Given the description of an element on the screen output the (x, y) to click on. 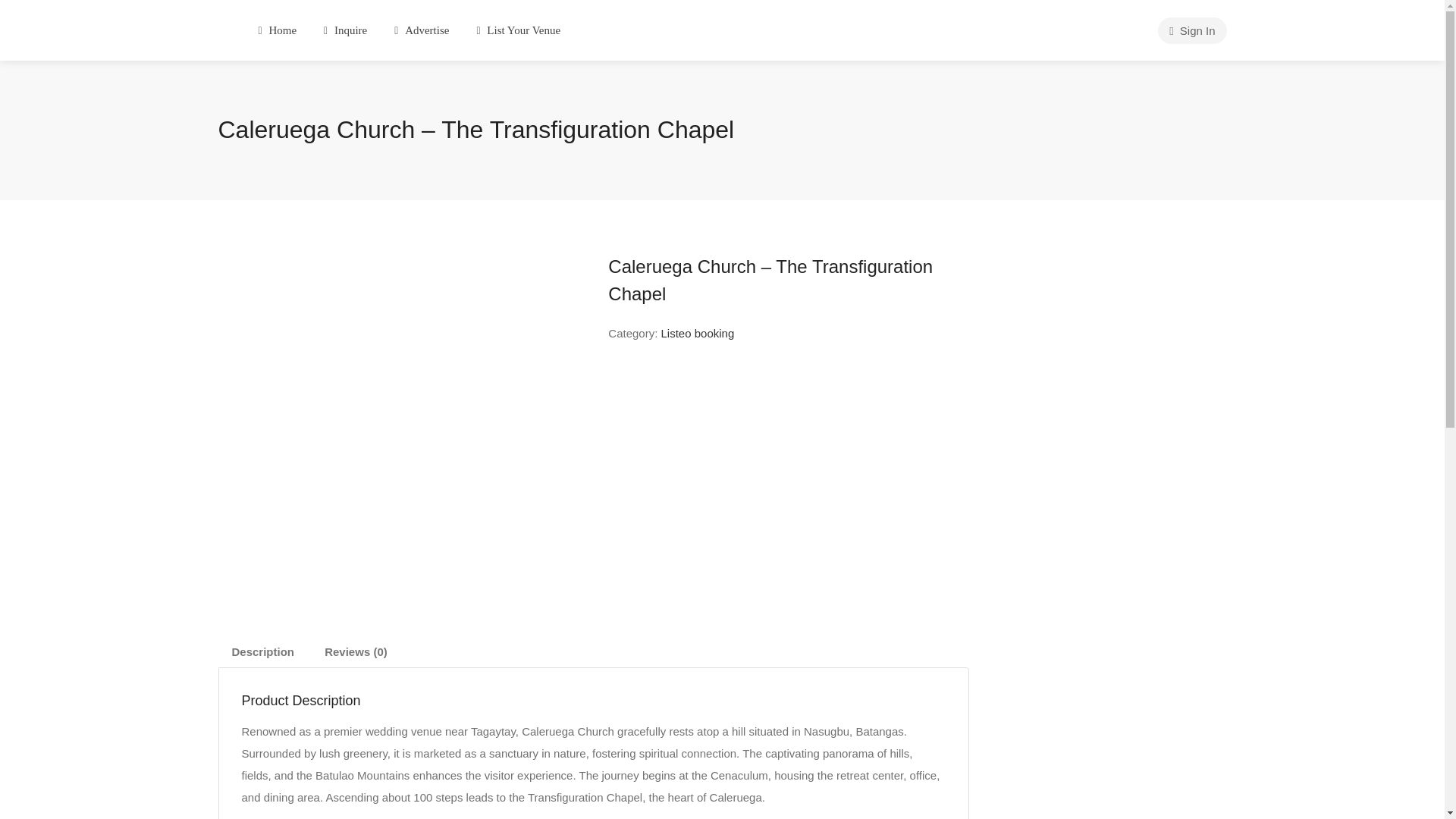
Home (277, 30)
Description (263, 651)
Inquire (345, 30)
Sign In (1191, 30)
List Your Venue (518, 30)
Advertise (421, 30)
Listeo booking (698, 332)
